Given the description of an element on the screen output the (x, y) to click on. 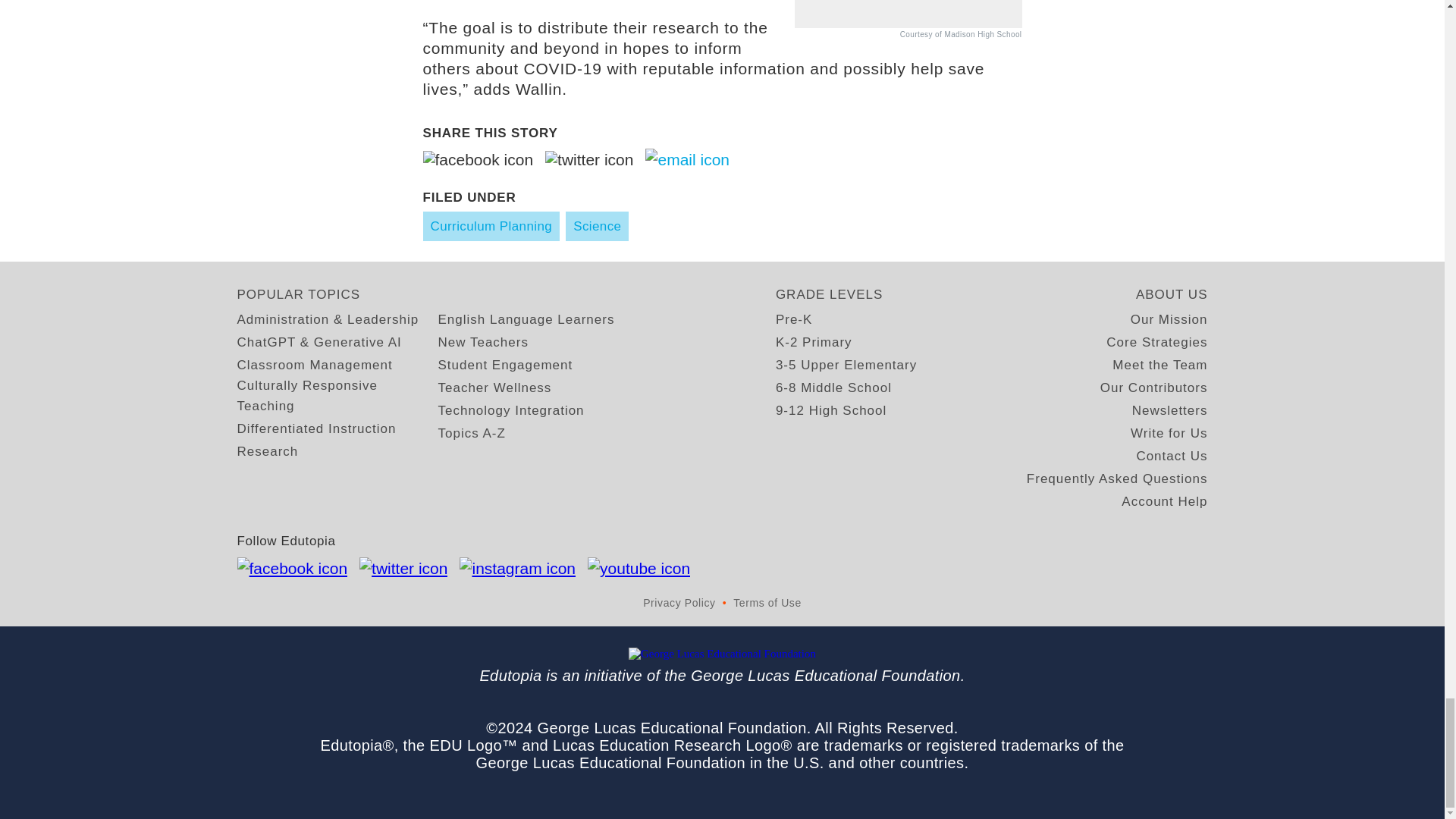
Culturally Responsive Teaching (336, 395)
Science (597, 225)
Classroom Management (313, 364)
Curriculum Planning (491, 225)
Differentiated Instruction (315, 428)
